Given the description of an element on the screen output the (x, y) to click on. 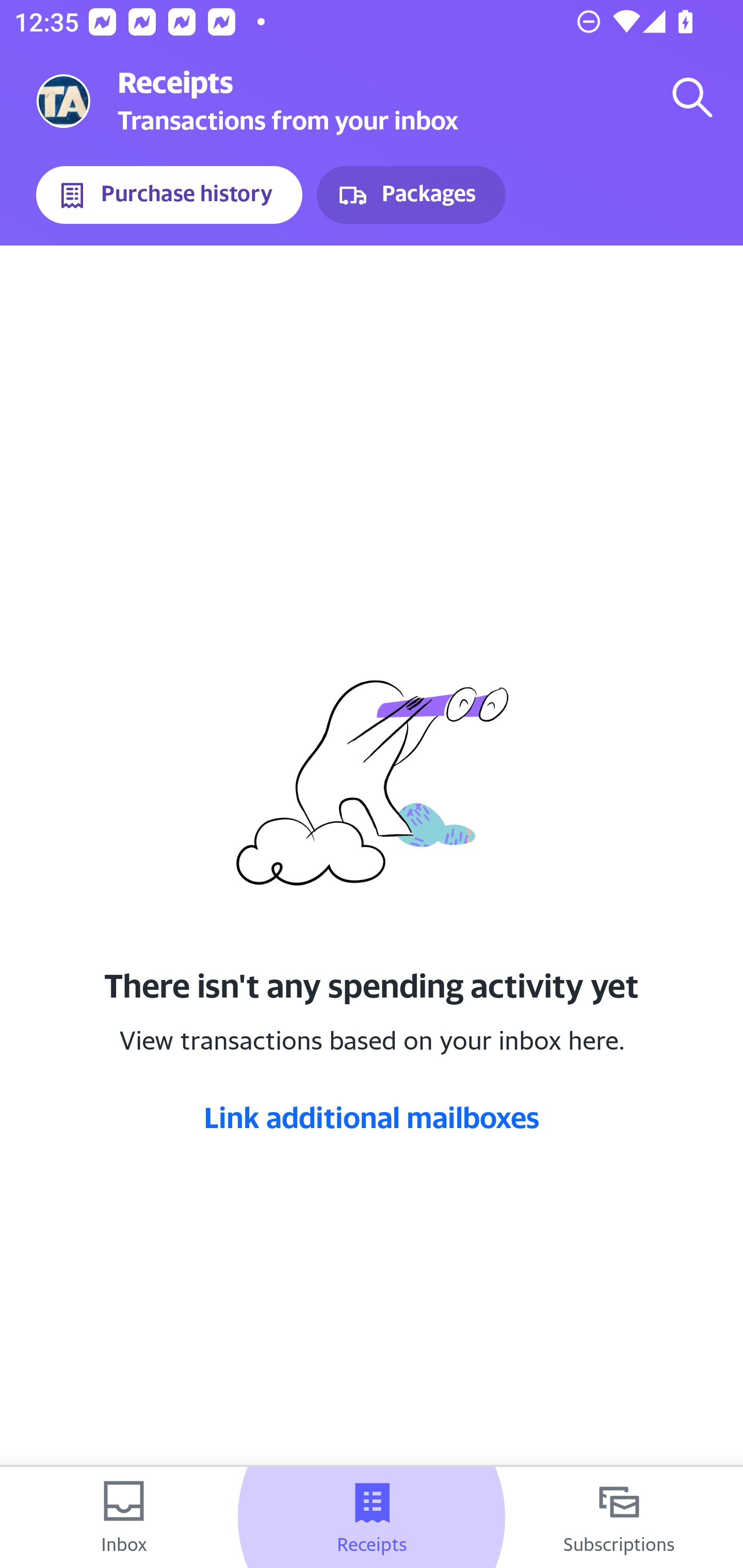
Search mail (692, 97)
Packages (410, 195)
Link additional mailboxes (371, 1117)
Inbox (123, 1517)
Receipts (371, 1517)
Subscriptions (619, 1517)
